Given the description of an element on the screen output the (x, y) to click on. 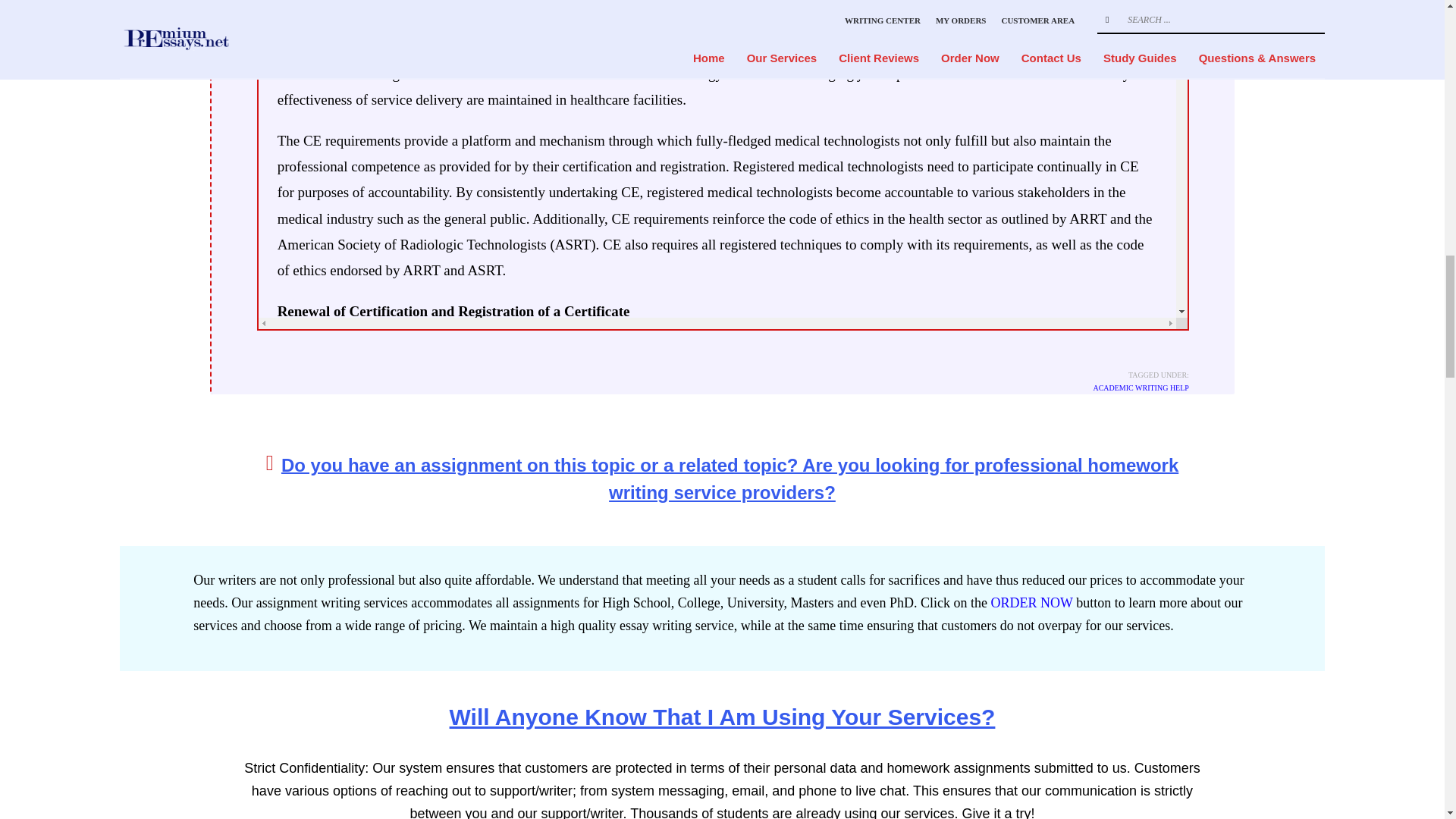
ACADEMIC WRITING HELP (1140, 388)
ORDER NOW (1030, 602)
medical technologists (545, 21)
